Given the description of an element on the screen output the (x, y) to click on. 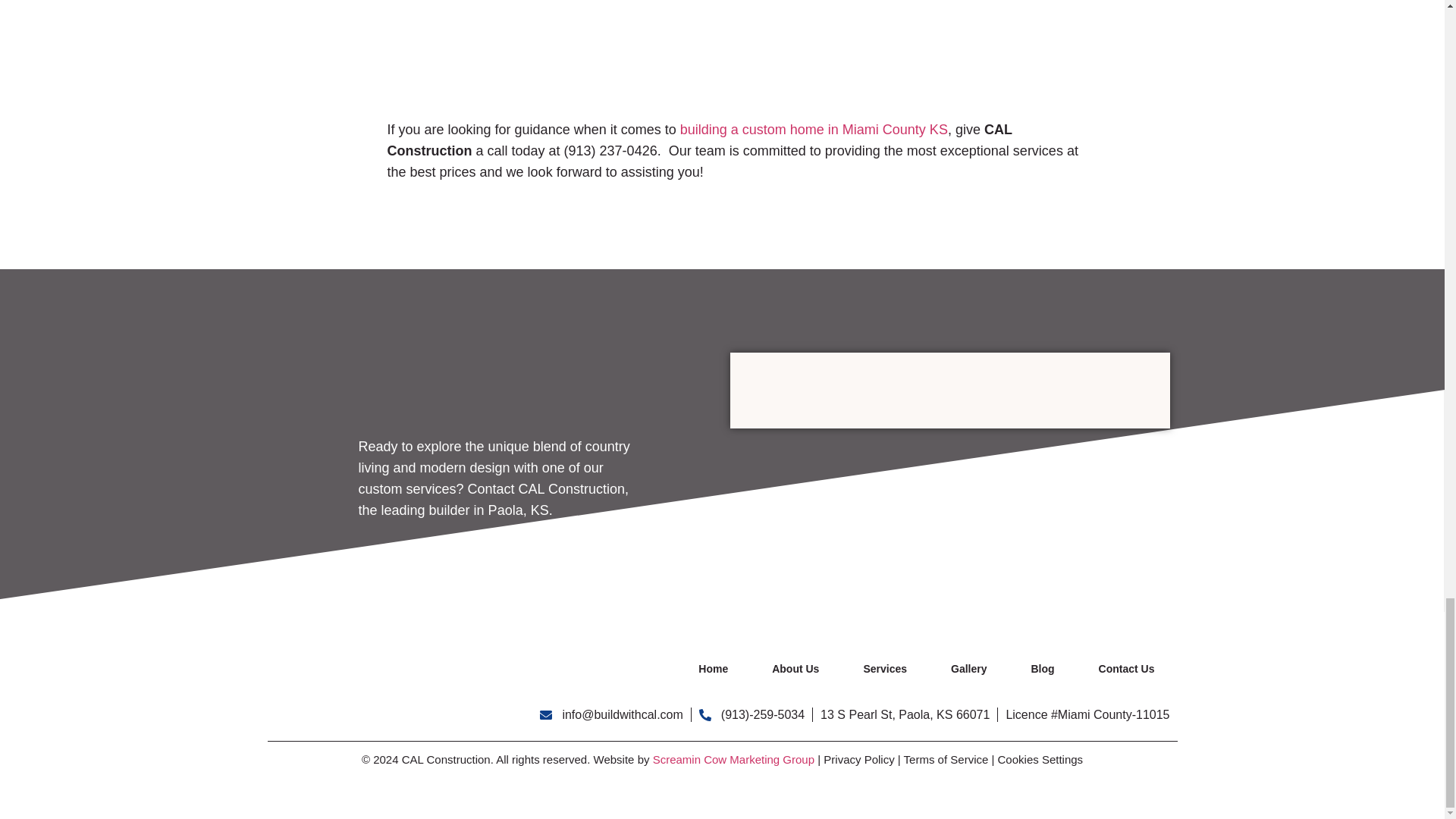
Home (712, 669)
building a custom home in Miami County KS (813, 129)
